Given the description of an element on the screen output the (x, y) to click on. 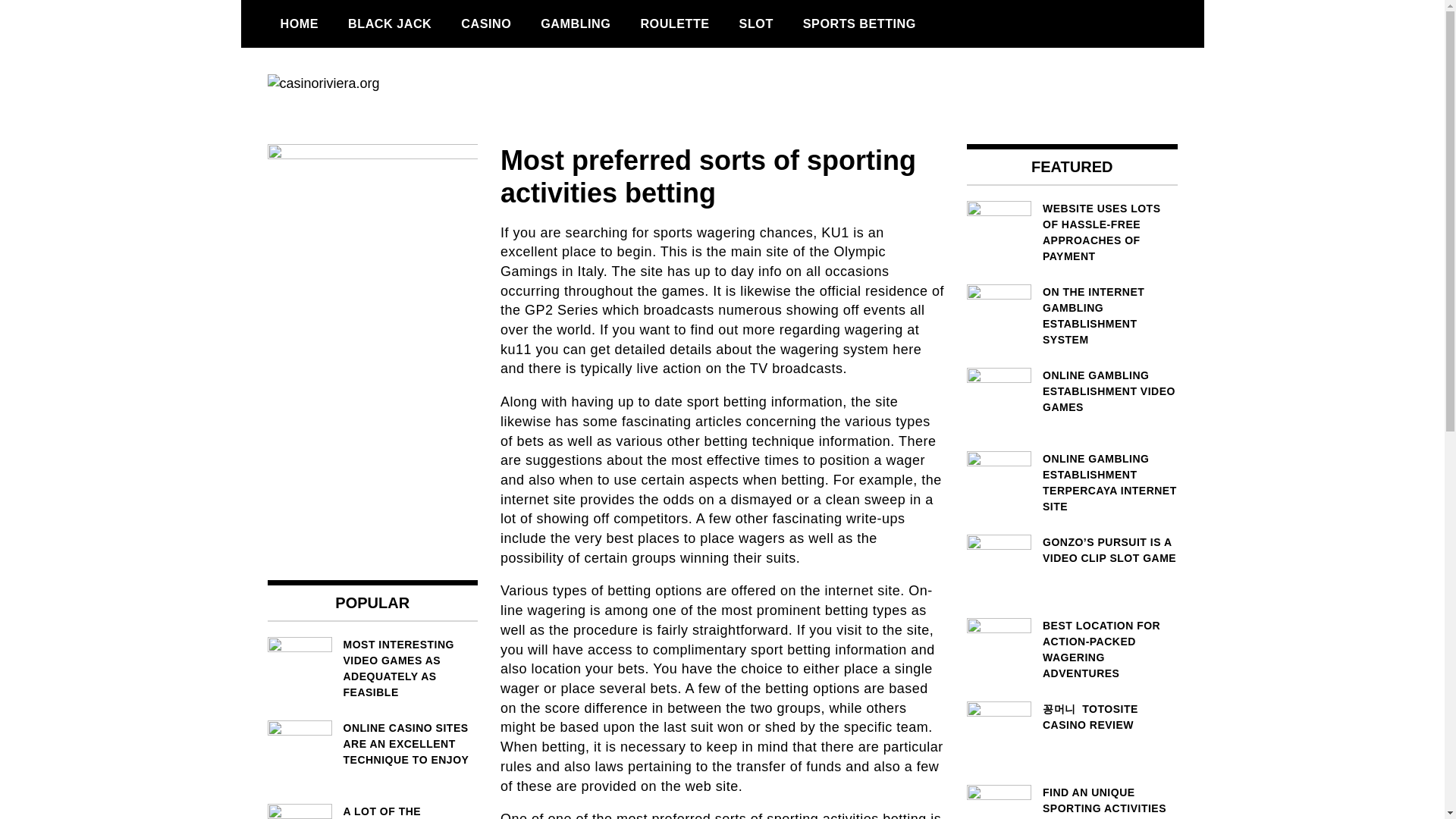
casinoriviera.org (379, 138)
ON THE INTERNET GAMBLING ESTABLISHMENT SYSTEM (1071, 316)
SLOT (756, 23)
GAMBLING (575, 23)
SPORTS BETTING (859, 23)
HOME (298, 23)
CASINO (485, 23)
WEBSITE USES LOTS OF HASSLE-FREE APPROACHES OF PAYMENT (1071, 232)
FIND AN UNIQUE SPORTING ACTIVITIES BETTING SYSTEM (1071, 801)
ONLINE GAMBLING ESTABLISHMENT TERPERCAYA INTERNET SITE (1071, 483)
